Given the description of an element on the screen output the (x, y) to click on. 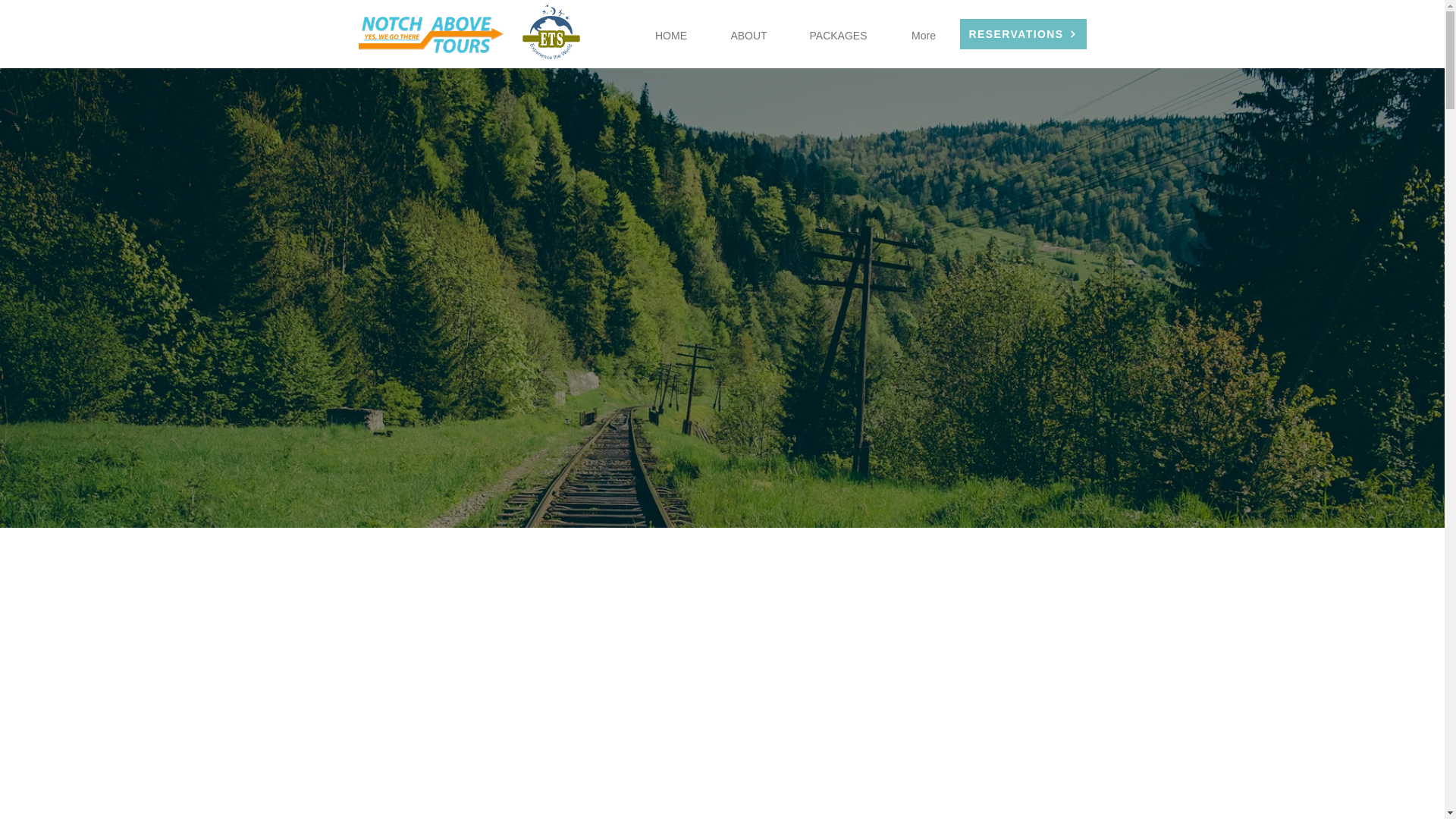
RESERVATIONS (1022, 33)
ABOUT (748, 35)
HOME (671, 35)
